Given the description of an element on the screen output the (x, y) to click on. 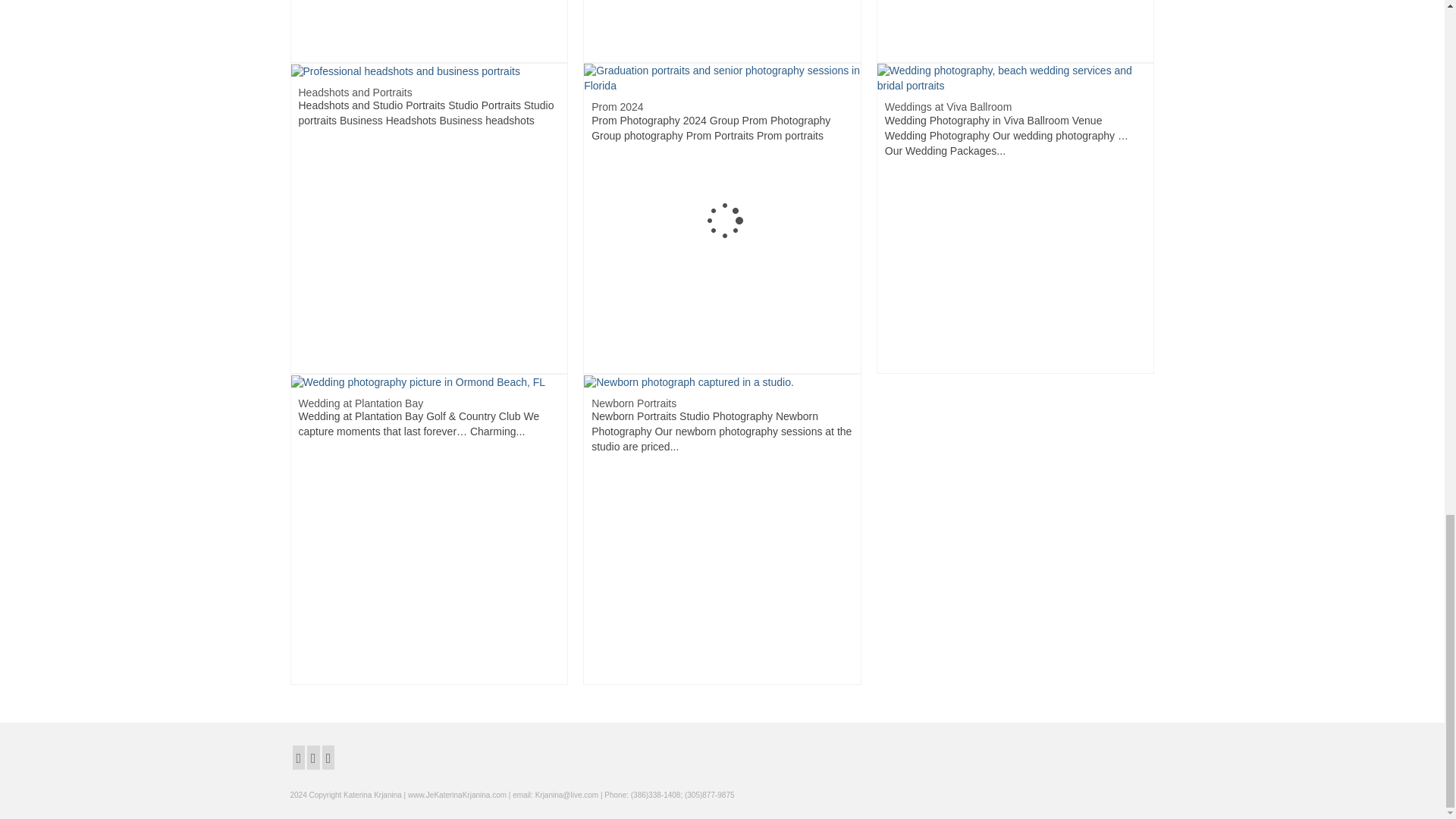
Wedding at Plantation Bay (418, 381)
Newborn Portraits (688, 381)
Headshots and Portraits (405, 70)
Prom 2024 (721, 78)
Weddings at Viva Ballroom (1015, 78)
